Given the description of an element on the screen output the (x, y) to click on. 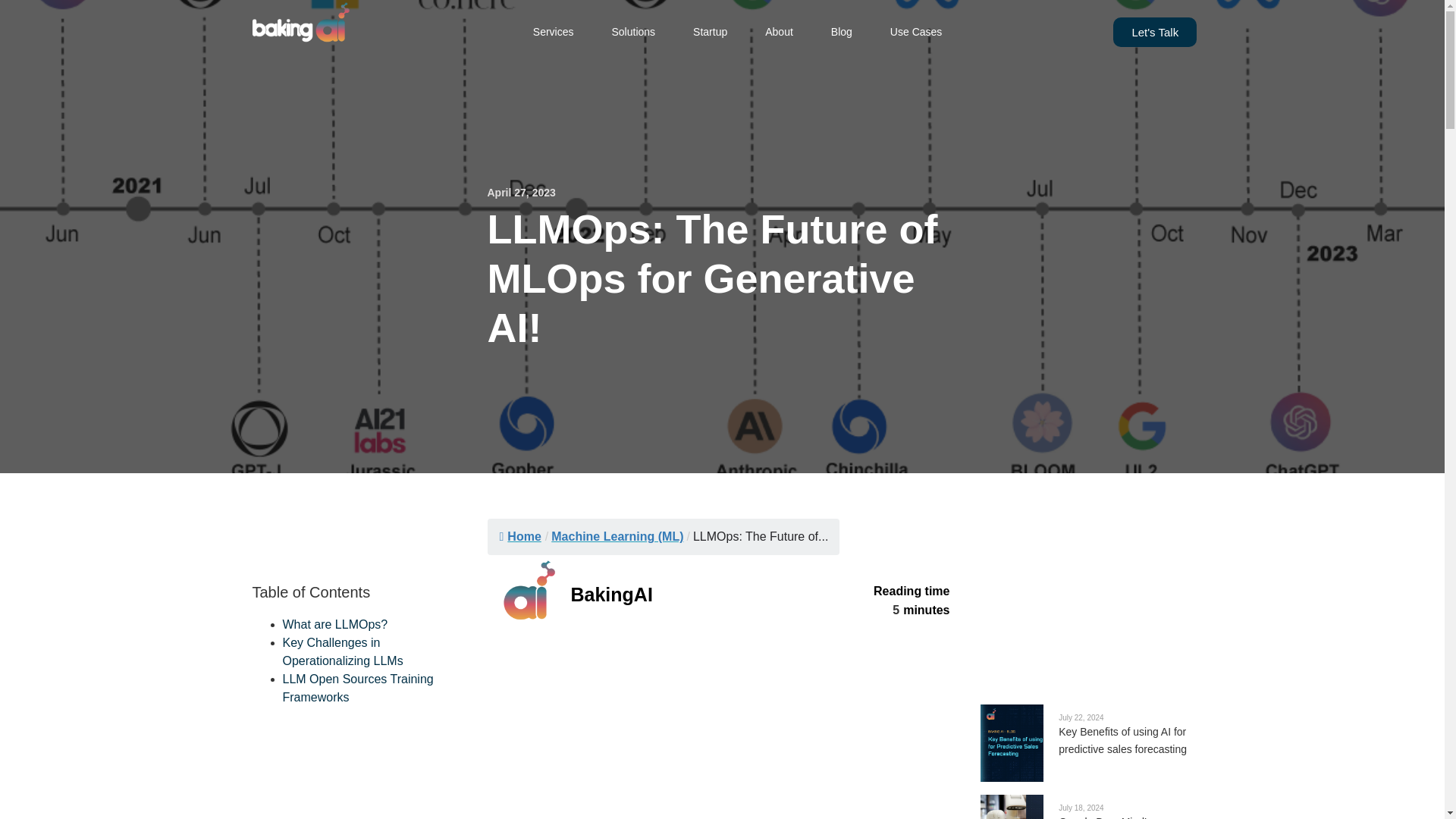
Services (553, 31)
Use Cases (916, 31)
Category Name (616, 535)
Advertisement (722, 724)
Advertisement (1085, 575)
LLMOps: The Future of MLOps for Generative AI! (760, 535)
Startup (709, 31)
Blog (841, 31)
Solutions (632, 31)
About (779, 31)
